Given the description of an element on the screen output the (x, y) to click on. 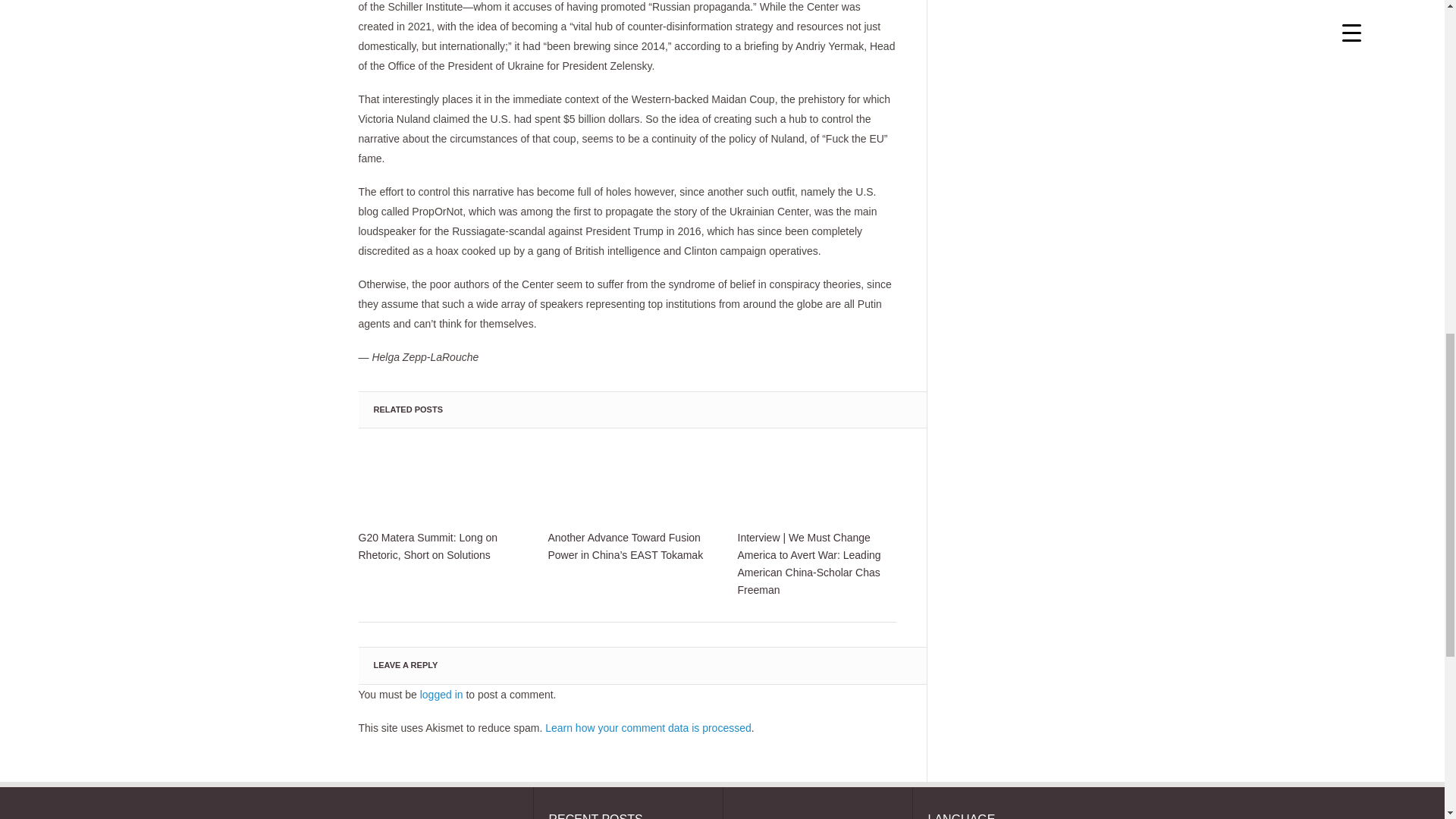
G20 Matera Summit: Long on Rhetoric, Short on Solutions (437, 546)
G20 Matera Summit: Long on Rhetoric, Short on Solutions (437, 483)
